Given the description of an element on the screen output the (x, y) to click on. 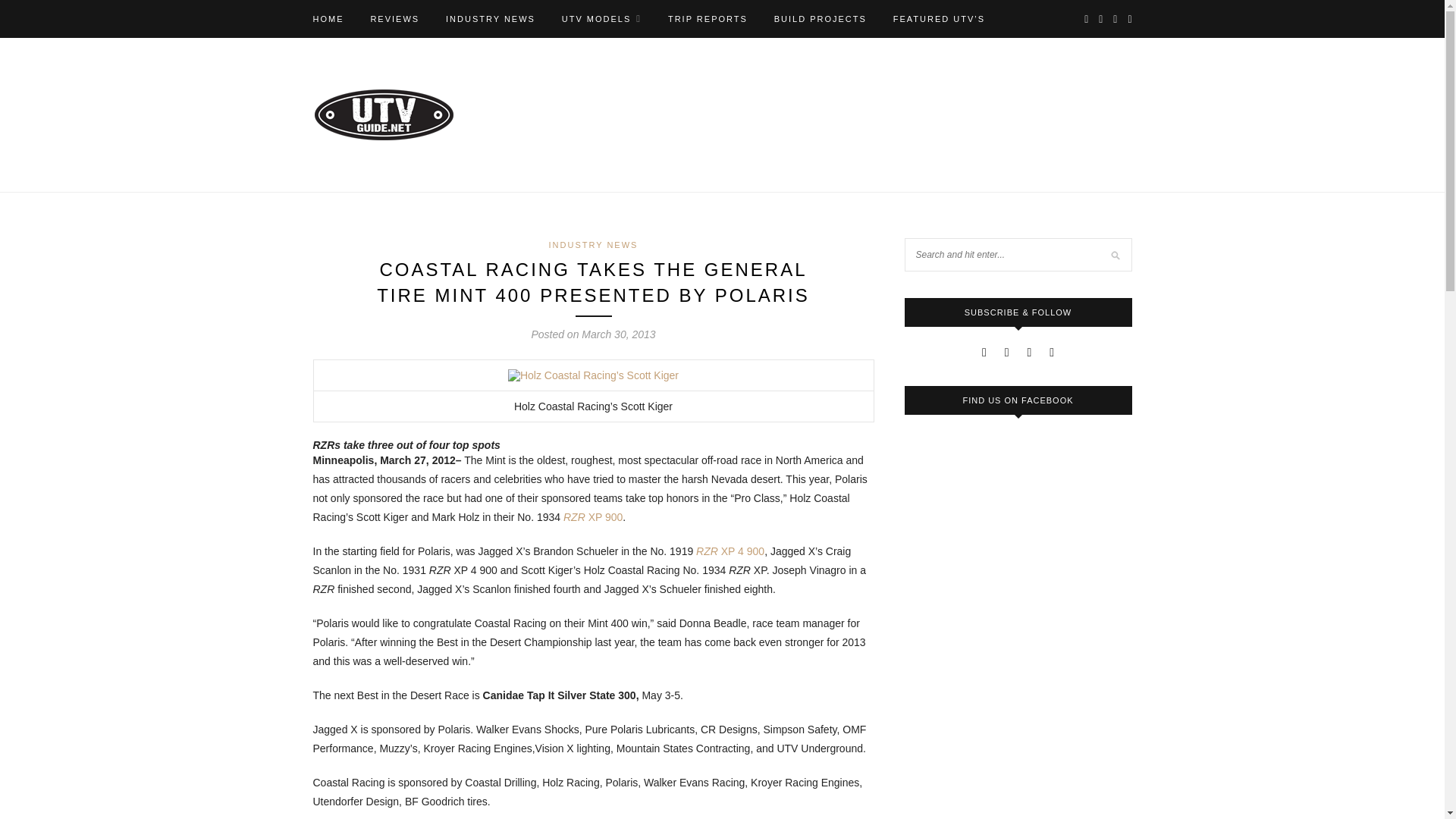
YouTube video player (1017, 662)
RZR XP 900 (593, 517)
INDUSTRY NEWS (490, 18)
TRIP REPORTS (708, 18)
UTV MODELS (602, 18)
INDUSTRY NEWS (593, 244)
YouTube video player (1017, 787)
BUILD PROJECTS (820, 18)
REVIEWS (394, 18)
RZR XP 4 900 (729, 551)
